Given the description of an element on the screen output the (x, y) to click on. 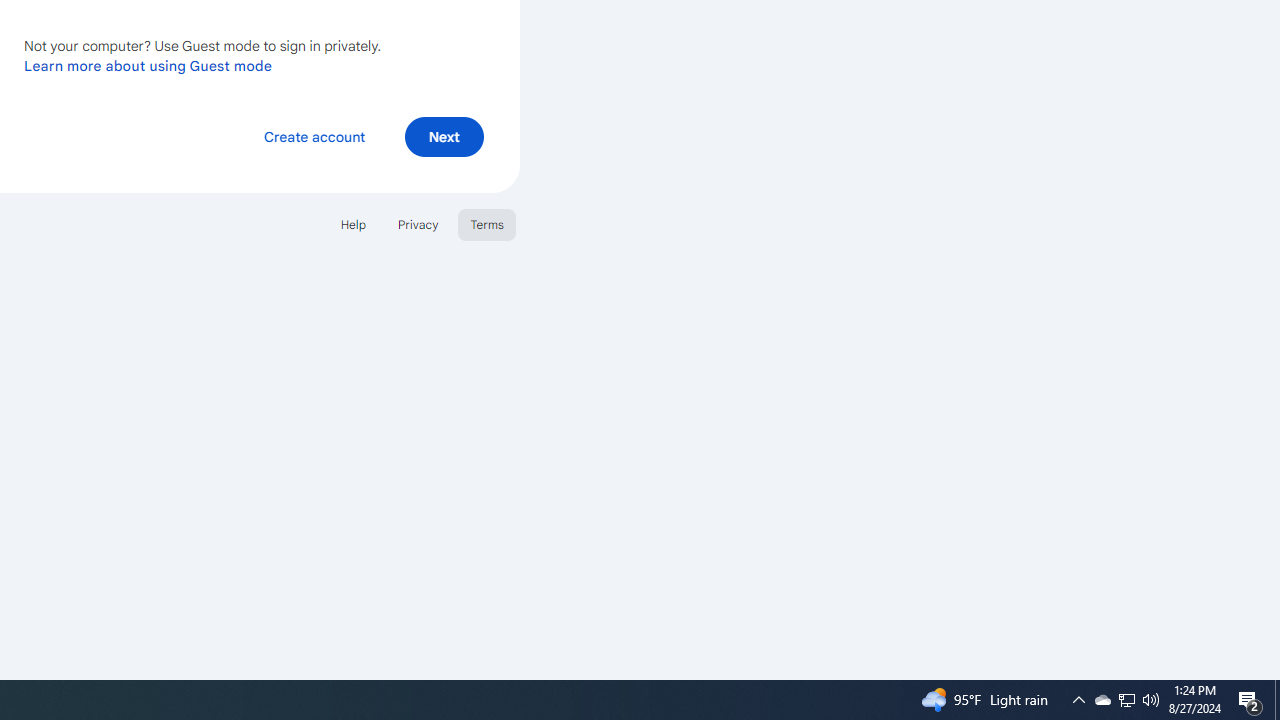
Next (443, 135)
Create account (314, 135)
Learn more about using Guest mode (148, 65)
